Given the description of an element on the screen output the (x, y) to click on. 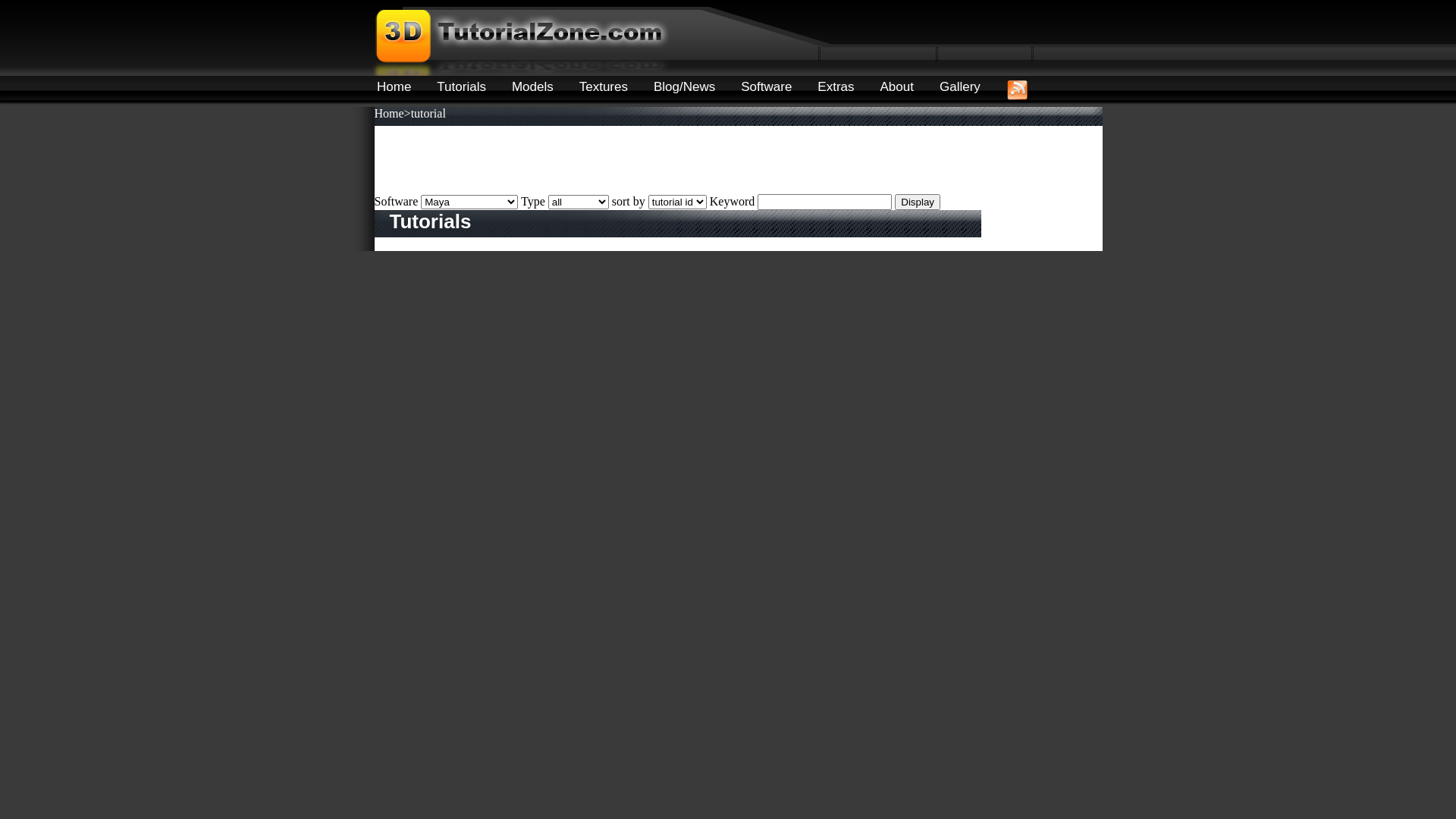
Textures Element type: text (603, 86)
Tutorials Element type: text (461, 86)
Advertisement Element type: hover (650, 159)
Models Element type: text (532, 86)
Home Element type: text (393, 86)
Software Element type: text (765, 86)
Extras Element type: text (835, 86)
About Element type: text (896, 86)
Display Element type: text (917, 202)
Blog/News Element type: text (684, 86)
Gallery Element type: text (959, 86)
